Given the description of an element on the screen output the (x, y) to click on. 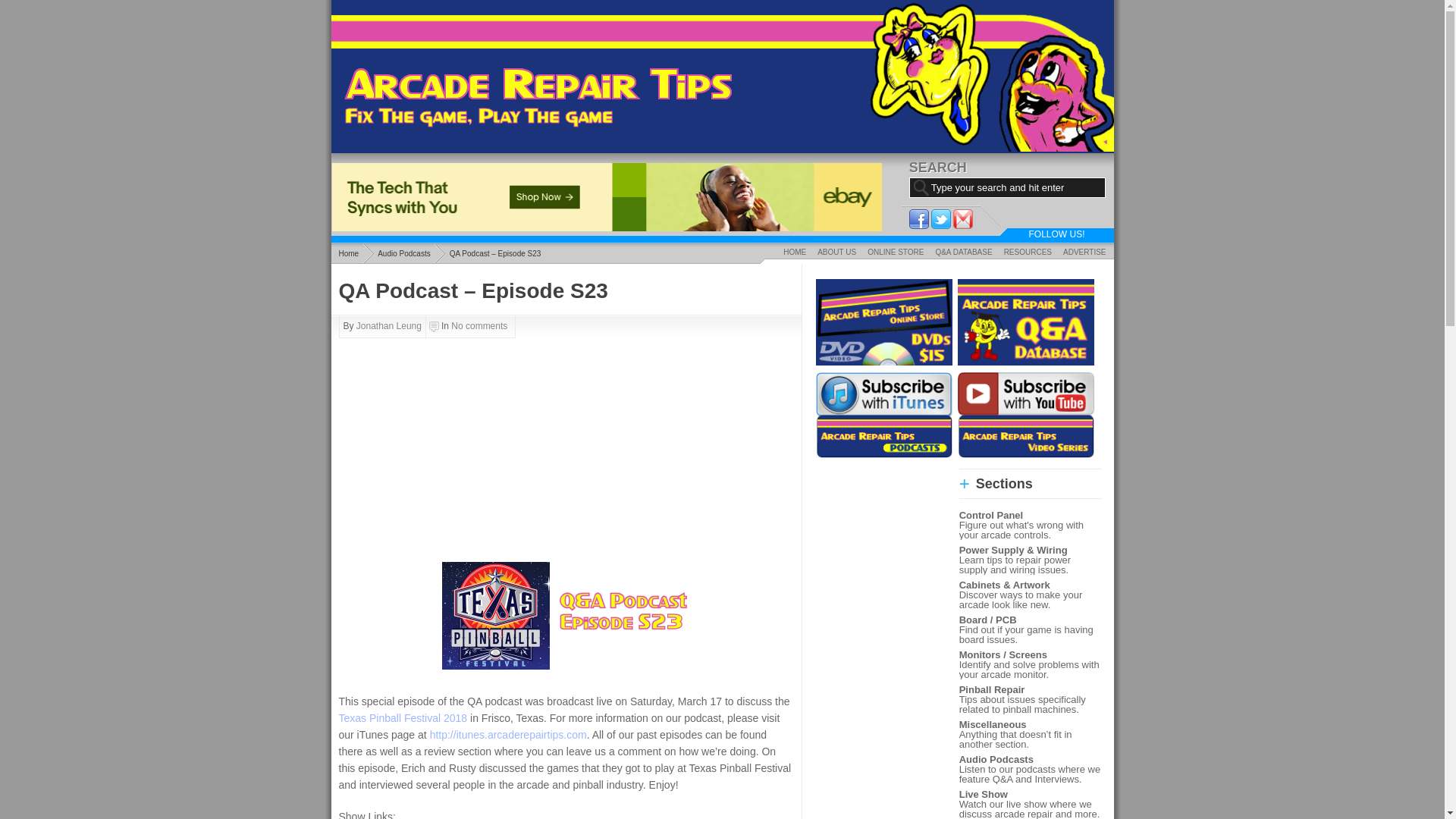
View all posts in Control Panel (991, 514)
Type your search and hit enter (1006, 187)
ADVERTISE (1084, 251)
Home (347, 253)
Advertisement (432, 443)
Jonathan Leung (389, 326)
Texas Pinball Festival 2018 (402, 717)
No comments (478, 326)
RESOURCES (1027, 251)
Posts by Jonathan Leung (389, 326)
HOME (793, 251)
Audio Podcasts (403, 253)
ONLINE STORE (895, 251)
ABOUT US (836, 251)
